Given the description of an element on the screen output the (x, y) to click on. 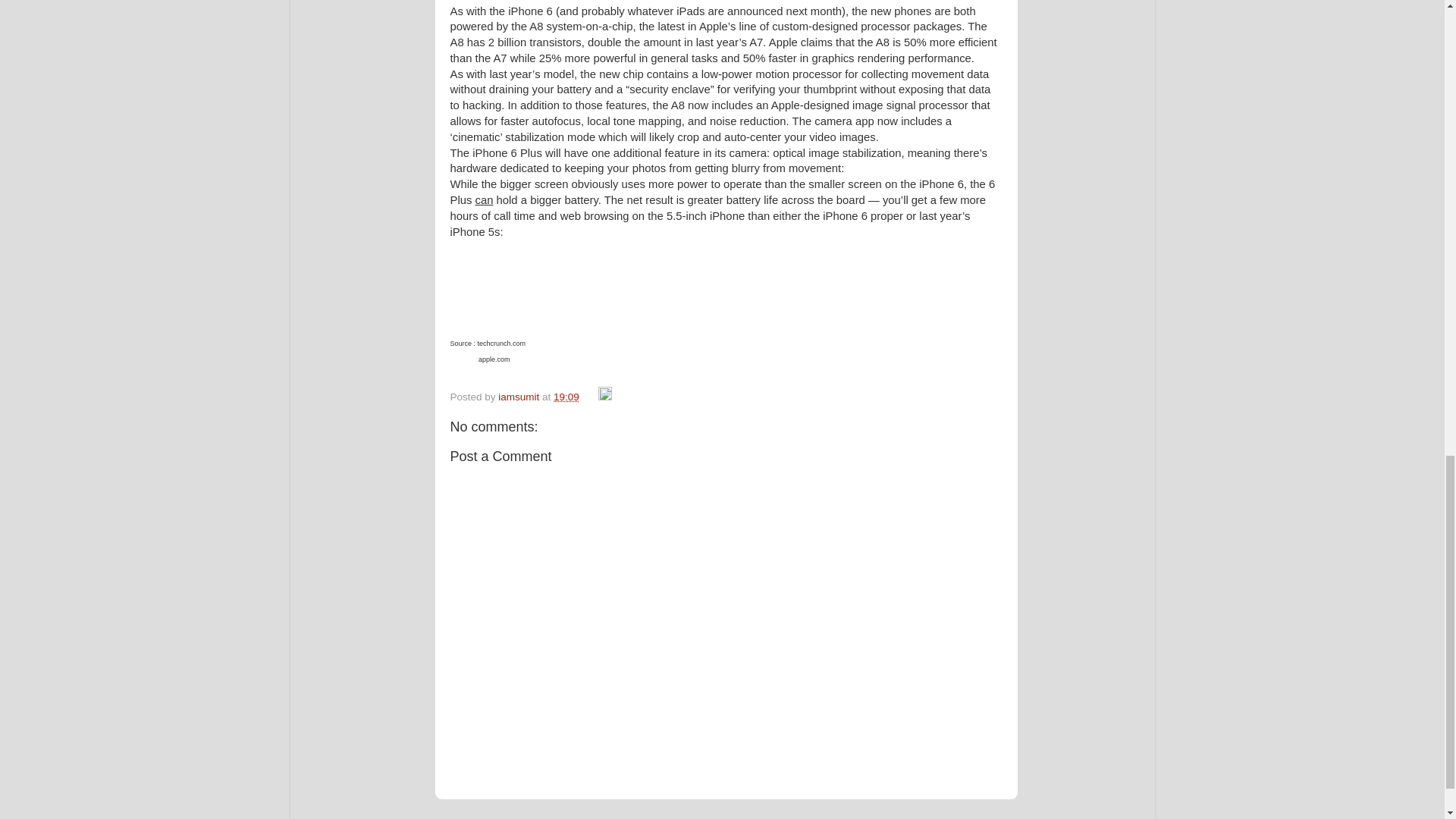
Email Post (590, 396)
iamsumit (519, 396)
permanent link (566, 396)
author profile (519, 396)
Edit Post (604, 396)
19:09 (566, 396)
